Given the description of an element on the screen output the (x, y) to click on. 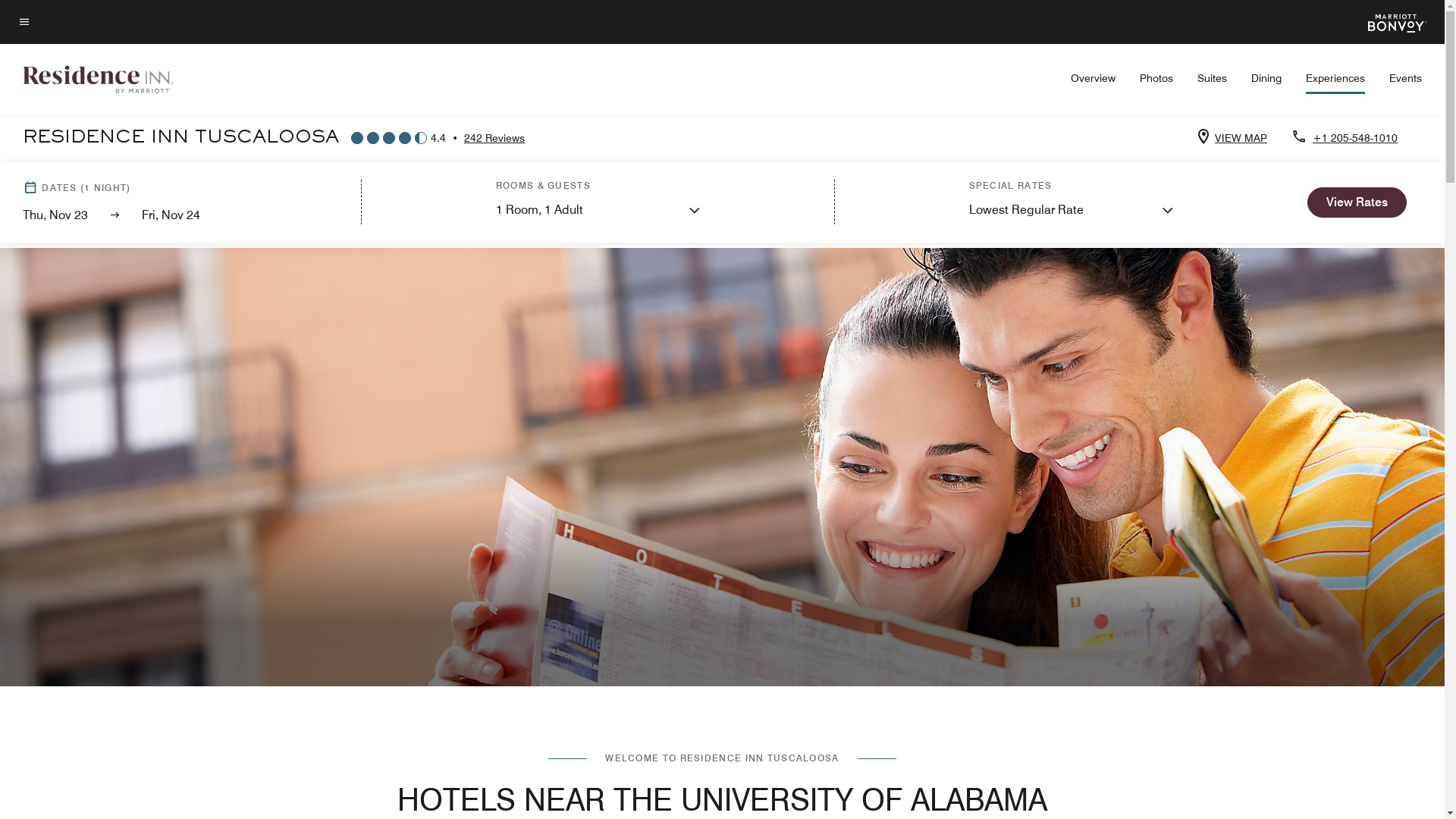
VIEW MAP Element type: text (1237, 137)
Photos Element type: text (1156, 78)
242 Reviews Element type: text (494, 137)
View Rates Element type: text (1356, 201)
Suites Element type: text (1211, 78)
Experiences Element type: text (1335, 83)
Dining Element type: text (1266, 78)
Events Element type: text (1405, 78)
+1 205-548-1010 Element type: text (1351, 137)
Overview Element type: text (1092, 78)
Skip to main content Element type: text (18, 12)
